Given the description of an element on the screen output the (x, y) to click on. 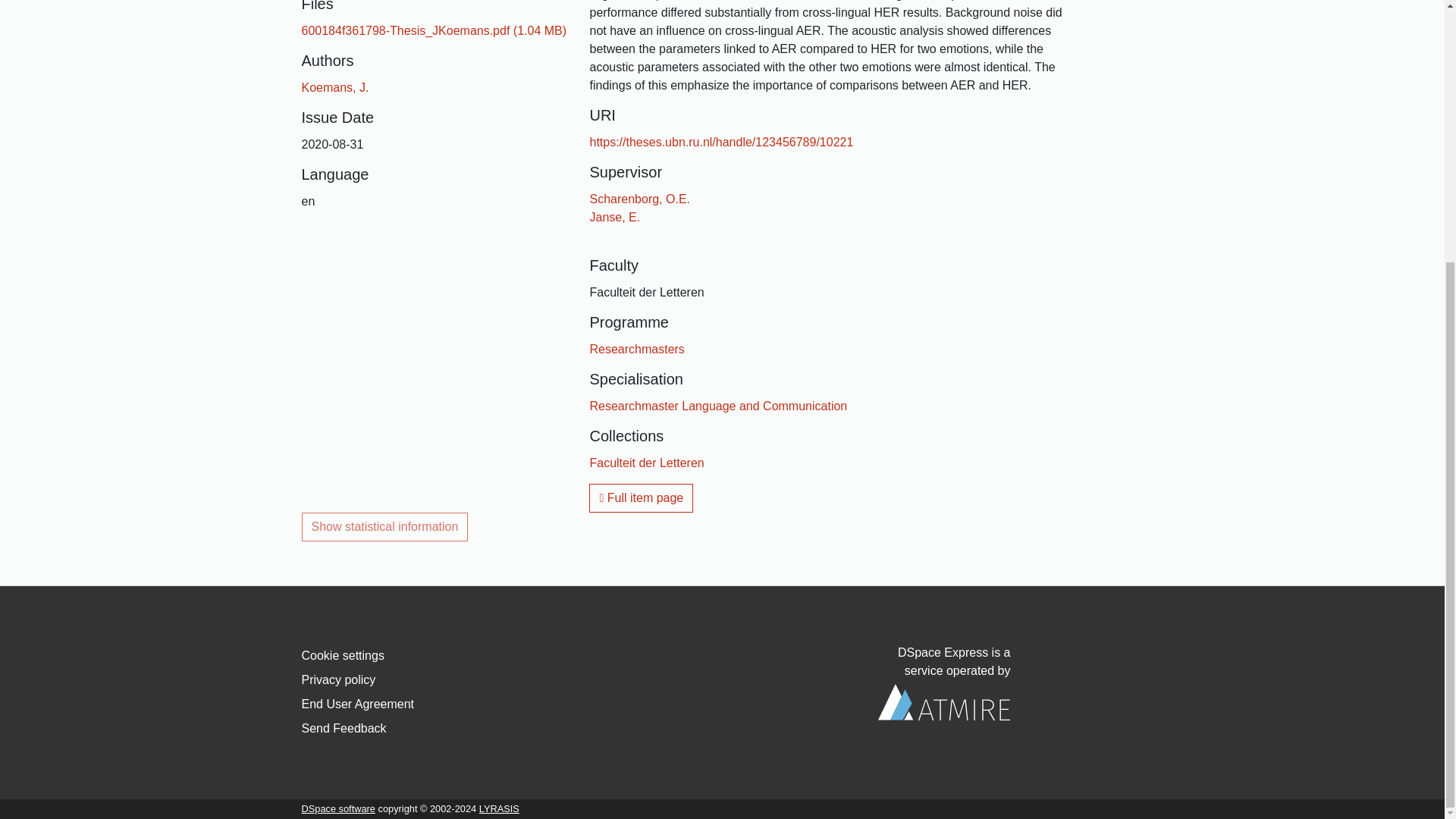
Privacy policy (338, 679)
Show statistical information (384, 526)
End User Agreement (357, 703)
Full item page (641, 498)
LYRASIS (499, 808)
Cookie settings (342, 655)
DSpace Express is a service operated by (943, 683)
Researchmasters (636, 349)
Researchmaster Language and Communication (718, 405)
Scharenborg, O.E. (639, 198)
DSpace software (338, 808)
Send Feedback (344, 727)
Koemans, J. (335, 87)
Janse, E. (614, 216)
Faculteit der Letteren (646, 462)
